Given the description of an element on the screen output the (x, y) to click on. 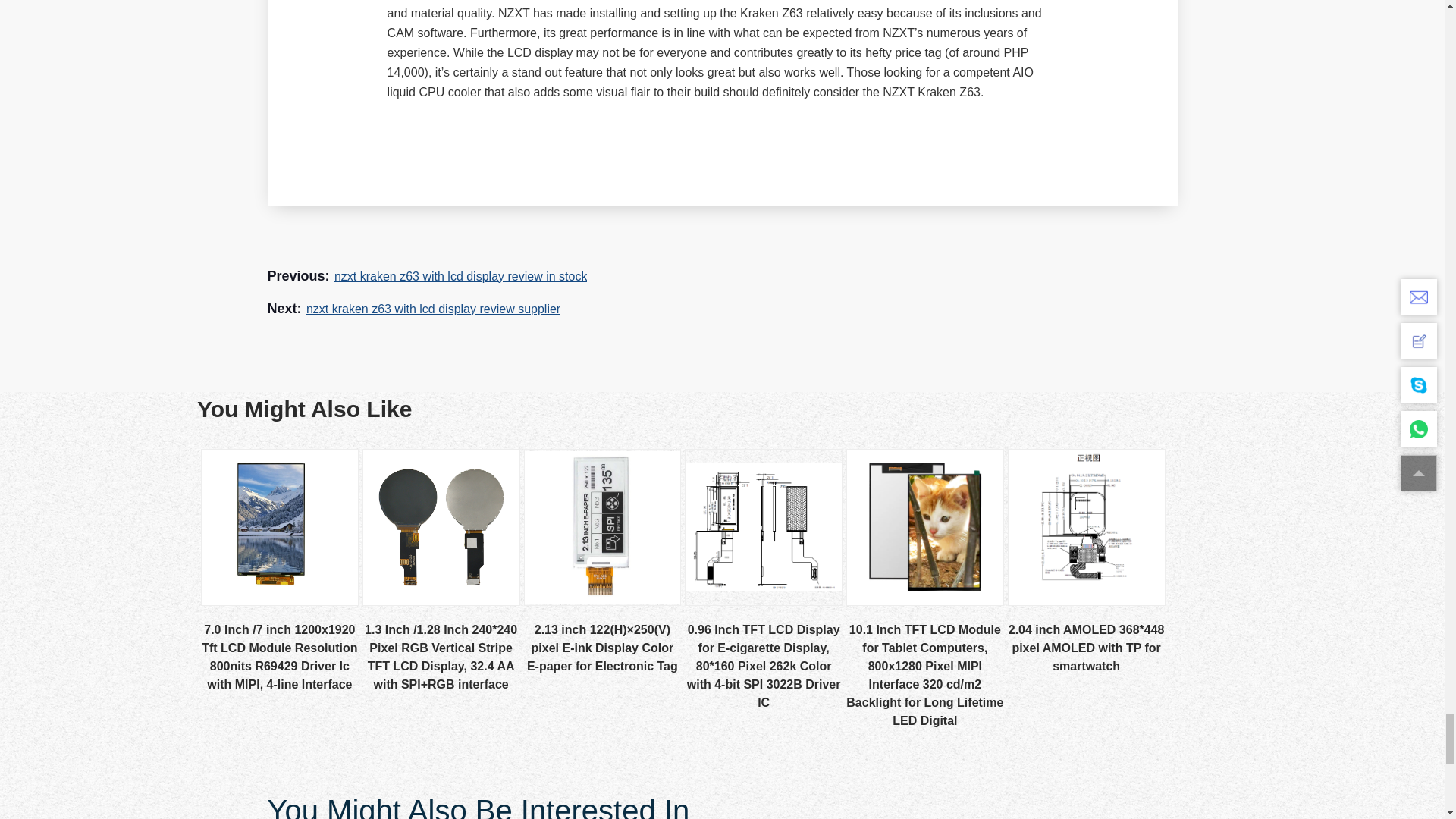
nzxt kraken z63 with lcd display review supplier (432, 309)
nzxt kraken z63 with lcd display review in stock (460, 276)
